Given the description of an element on the screen output the (x, y) to click on. 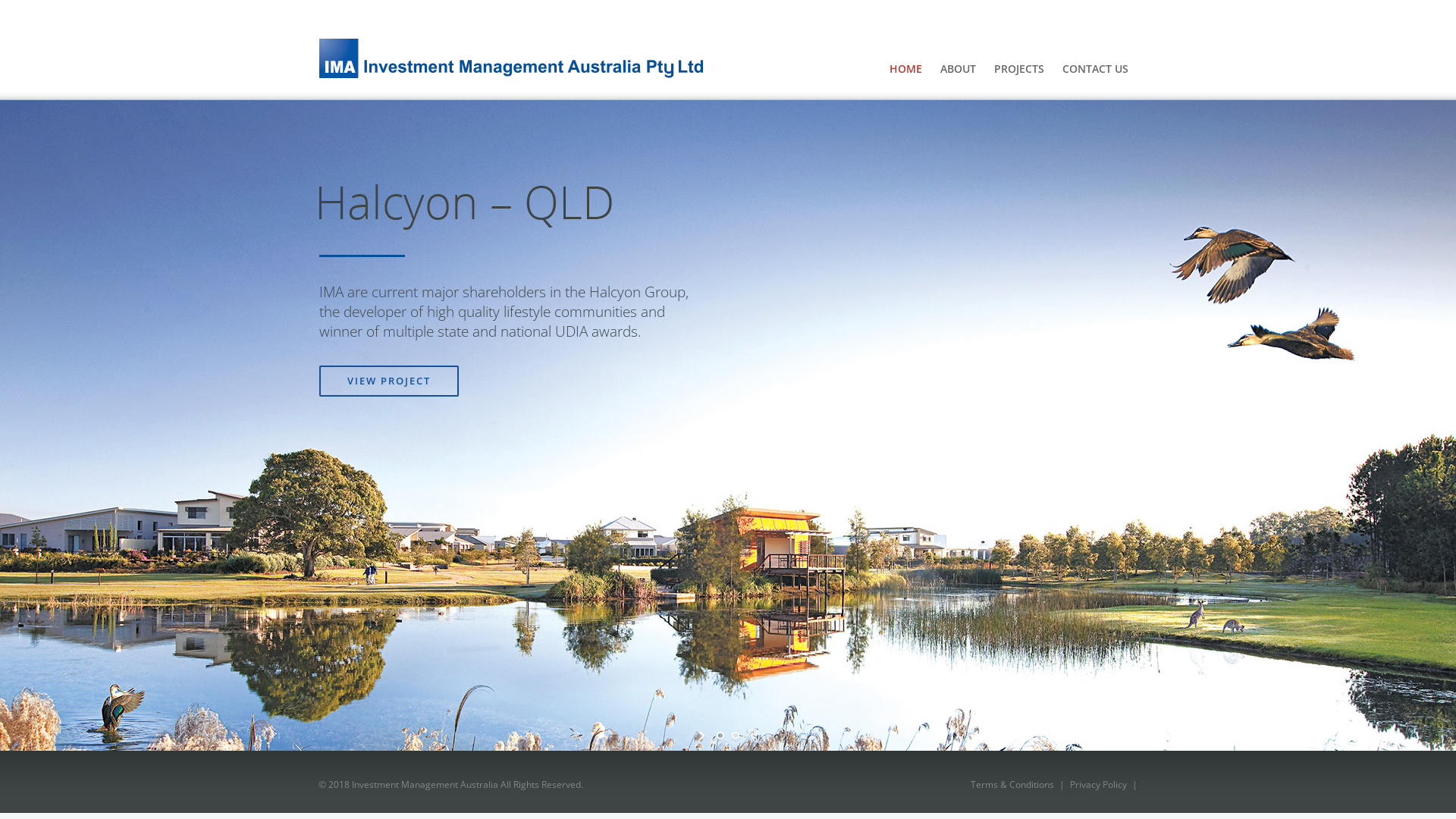
HOME Element type: text (905, 68)
ABOUT Element type: text (957, 68)
CONTACT US Element type: text (1095, 68)
Terms & Conditions Element type: text (1012, 784)
Privacy Policy Element type: text (1098, 784)
PROJECTS Element type: text (1019, 68)
VIEW PROJECT Element type: text (388, 380)
